Given the description of an element on the screen output the (x, y) to click on. 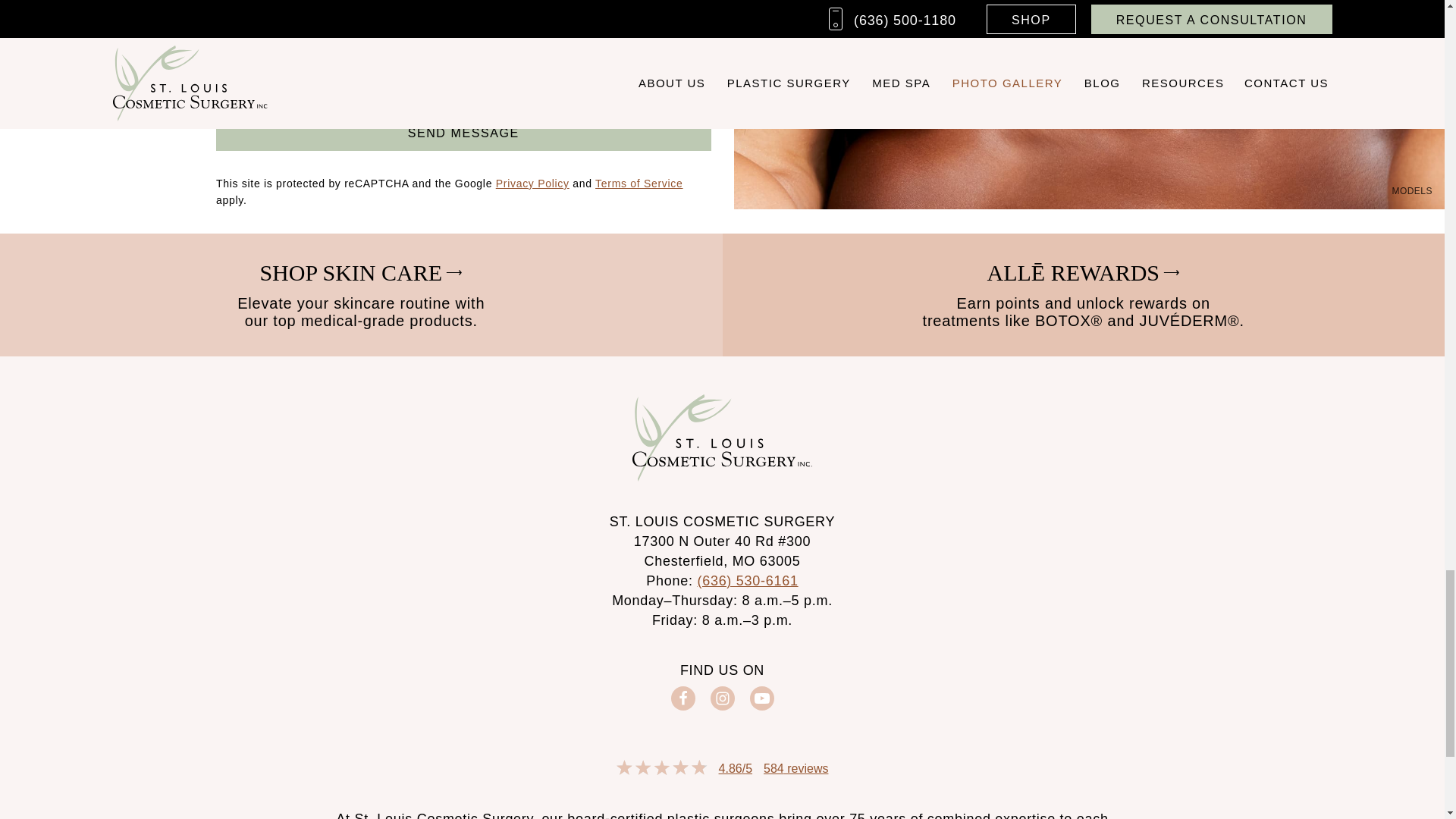
checked (224, 76)
checked (224, 51)
